Given the description of an element on the screen output the (x, y) to click on. 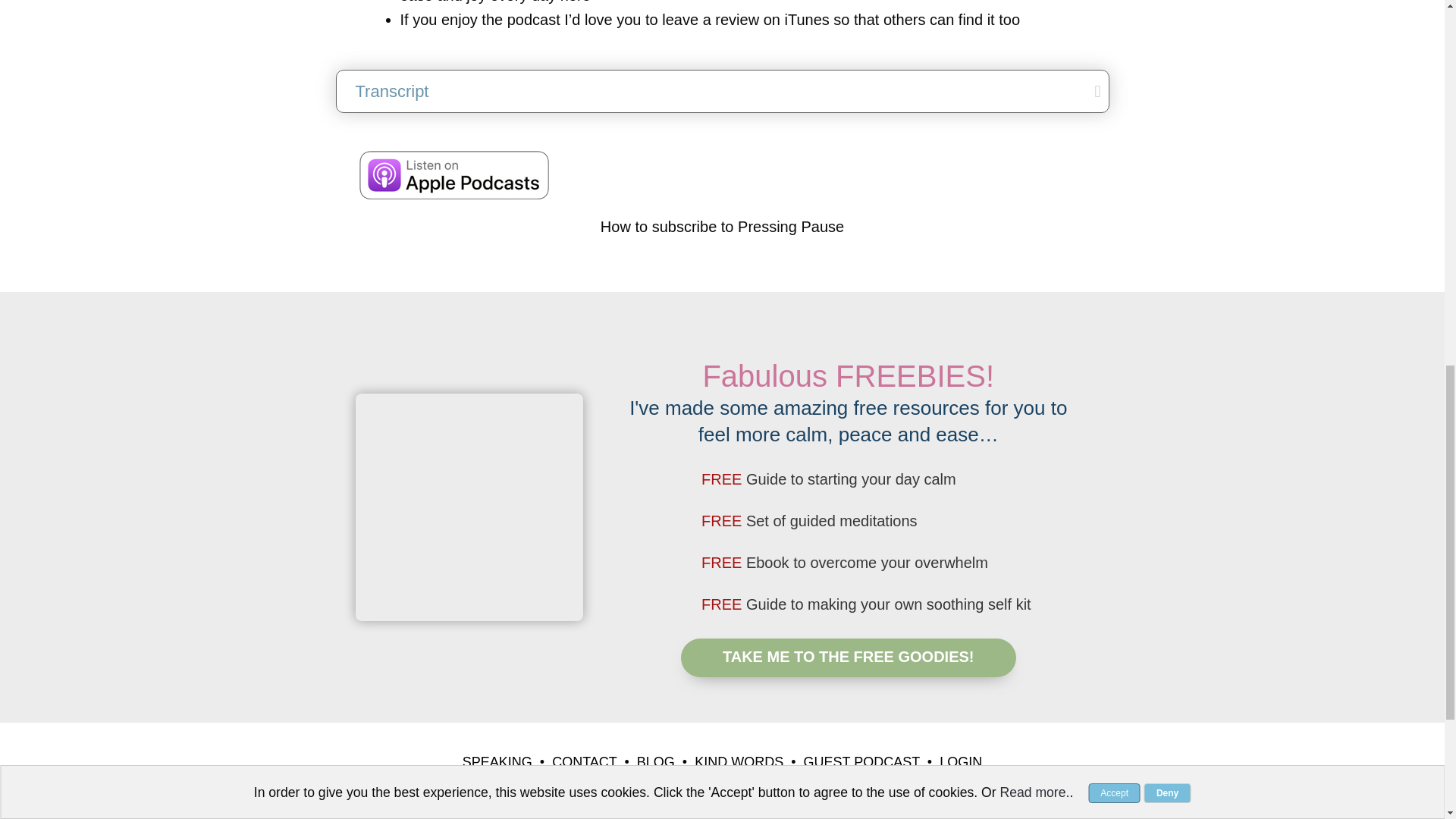
Listen to Pressing Pause Podcast on  Stitcher (721, 174)
Listen to Pressing Pause on iTunes (453, 174)
How to subscribe to Pressing Pause (721, 226)
Transcript (713, 90)
TAKE ME TO THE FREE GOODIES! (848, 657)
Listen-on-Spotify-Logo (990, 174)
SPEAKING (497, 761)
gabrielle april 2021 (469, 506)
Expand (1085, 90)
here (575, 2)
